Given the description of an element on the screen output the (x, y) to click on. 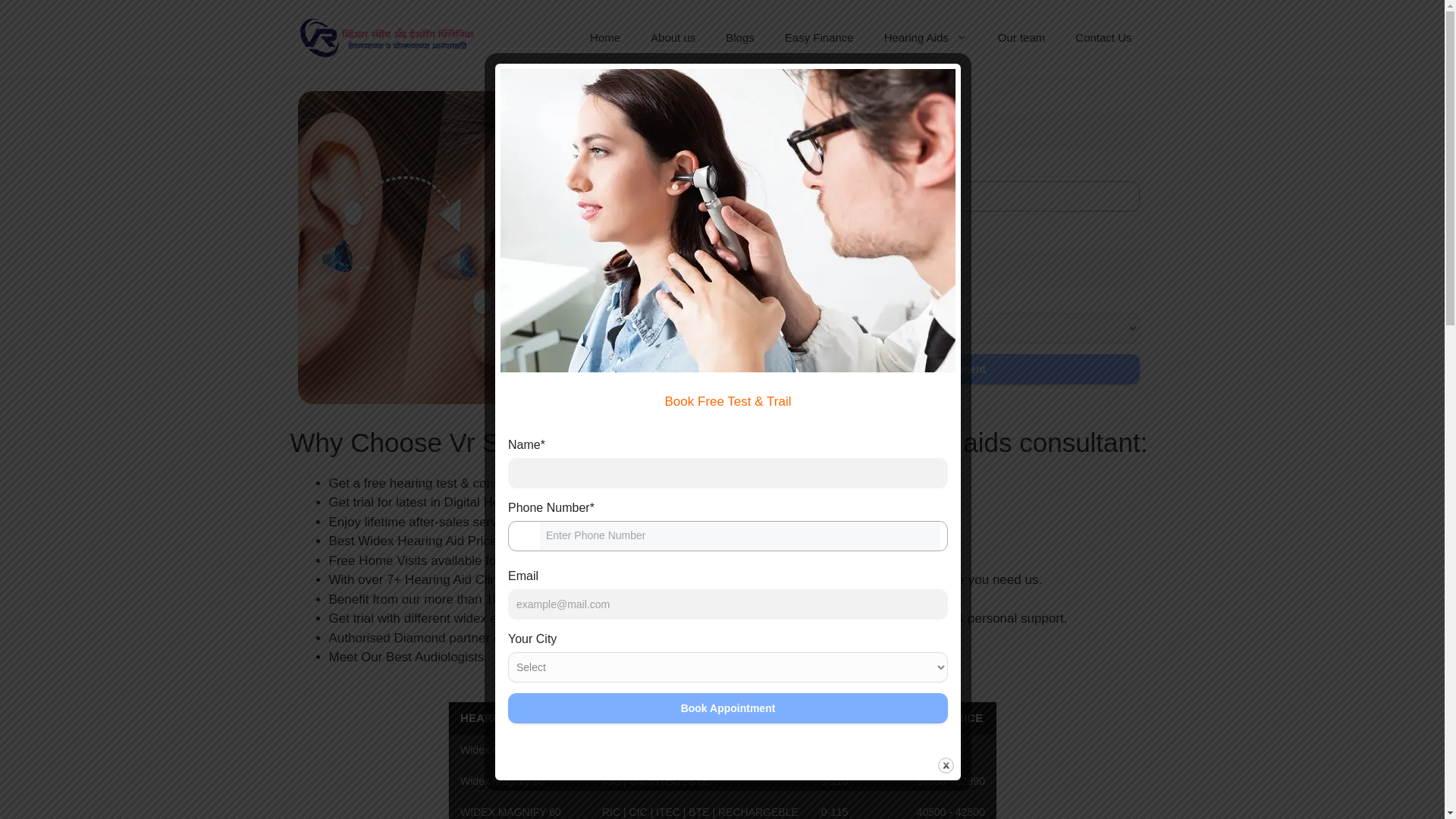
Hearing Aids (925, 37)
About us (672, 37)
Home (604, 37)
Easy Finance (819, 37)
Book Appointment (937, 368)
Contact Us (1103, 37)
Widex Hearing Aid in Aurangabad 1 (505, 247)
Blogs (740, 37)
Downarrow icon (753, 196)
Widex Hearing Aid Price (721, 760)
